Given the description of an element on the screen output the (x, y) to click on. 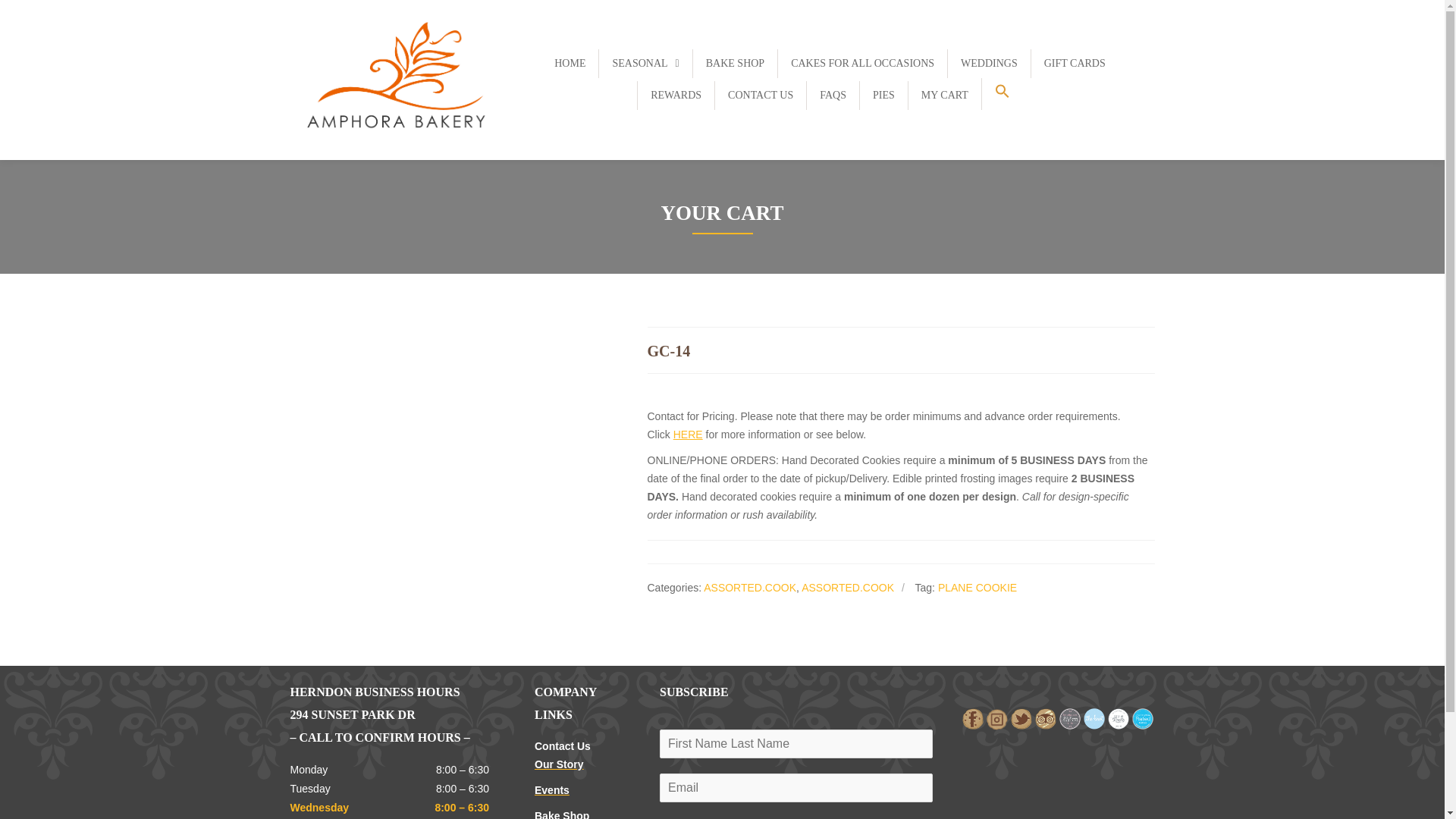
Events (551, 789)
Trip Advisor (1044, 717)
wedding wire (1142, 718)
Facebook (971, 717)
ASSORTED.COOK (749, 587)
The knot (1093, 718)
The knot (1093, 717)
ASSORTED.COOK (847, 587)
HERE (687, 434)
WEDDINGS (988, 63)
Our Story (558, 764)
REWARDS (675, 95)
PIES (883, 95)
CONTACT US (760, 95)
HOME (569, 63)
